Given the description of an element on the screen output the (x, y) to click on. 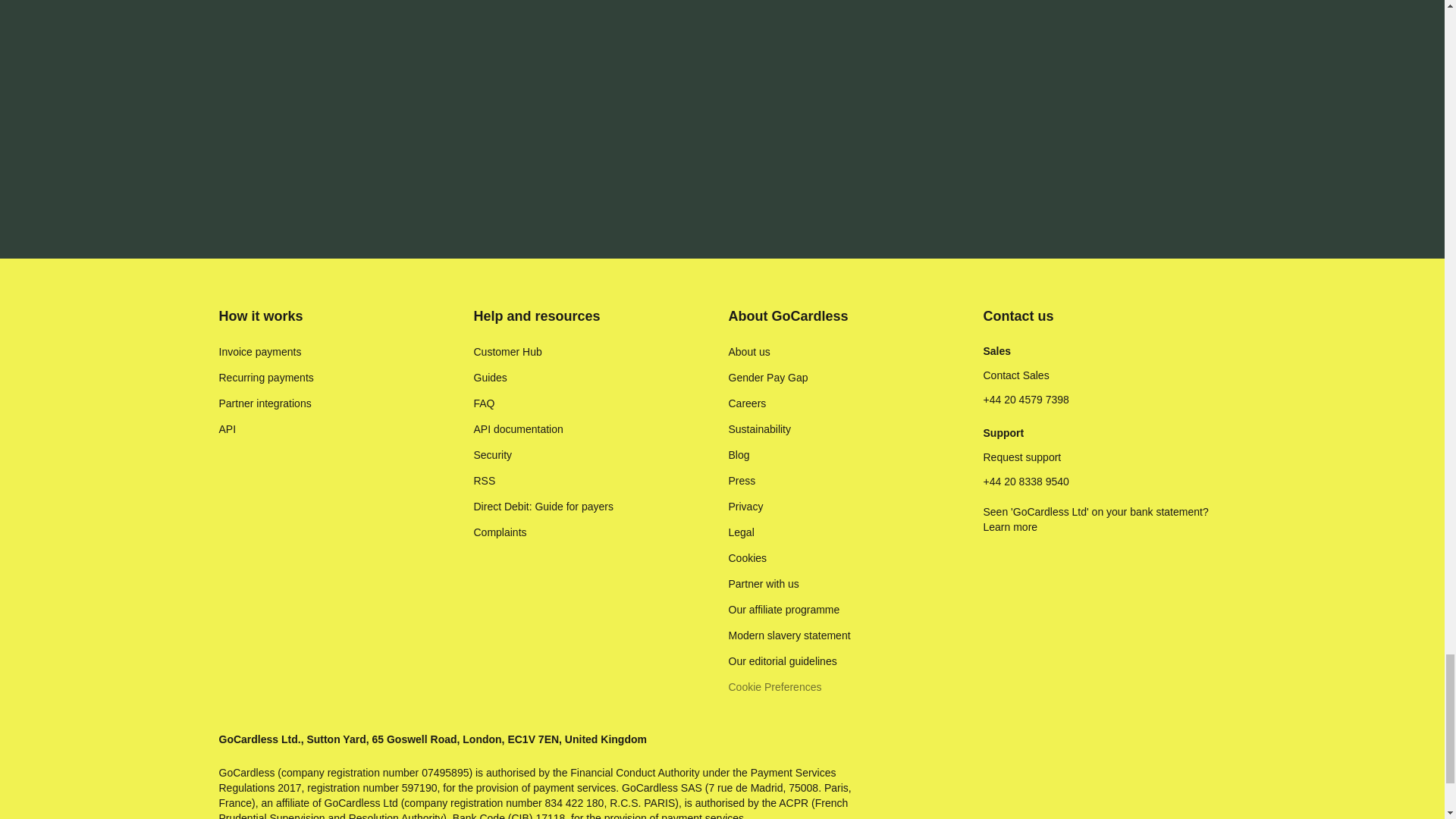
Sustainability (759, 428)
Customer Hub (507, 351)
Blog (738, 454)
API (226, 428)
FAQ (484, 403)
Privacy (745, 506)
About us (749, 351)
Complaints (499, 531)
Gender Pay Gap (768, 377)
RSS (484, 480)
Invoice payments (259, 351)
Press (741, 480)
Partner integrations (264, 403)
API documentation (517, 428)
Careers (746, 403)
